Given the description of an element on the screen output the (x, y) to click on. 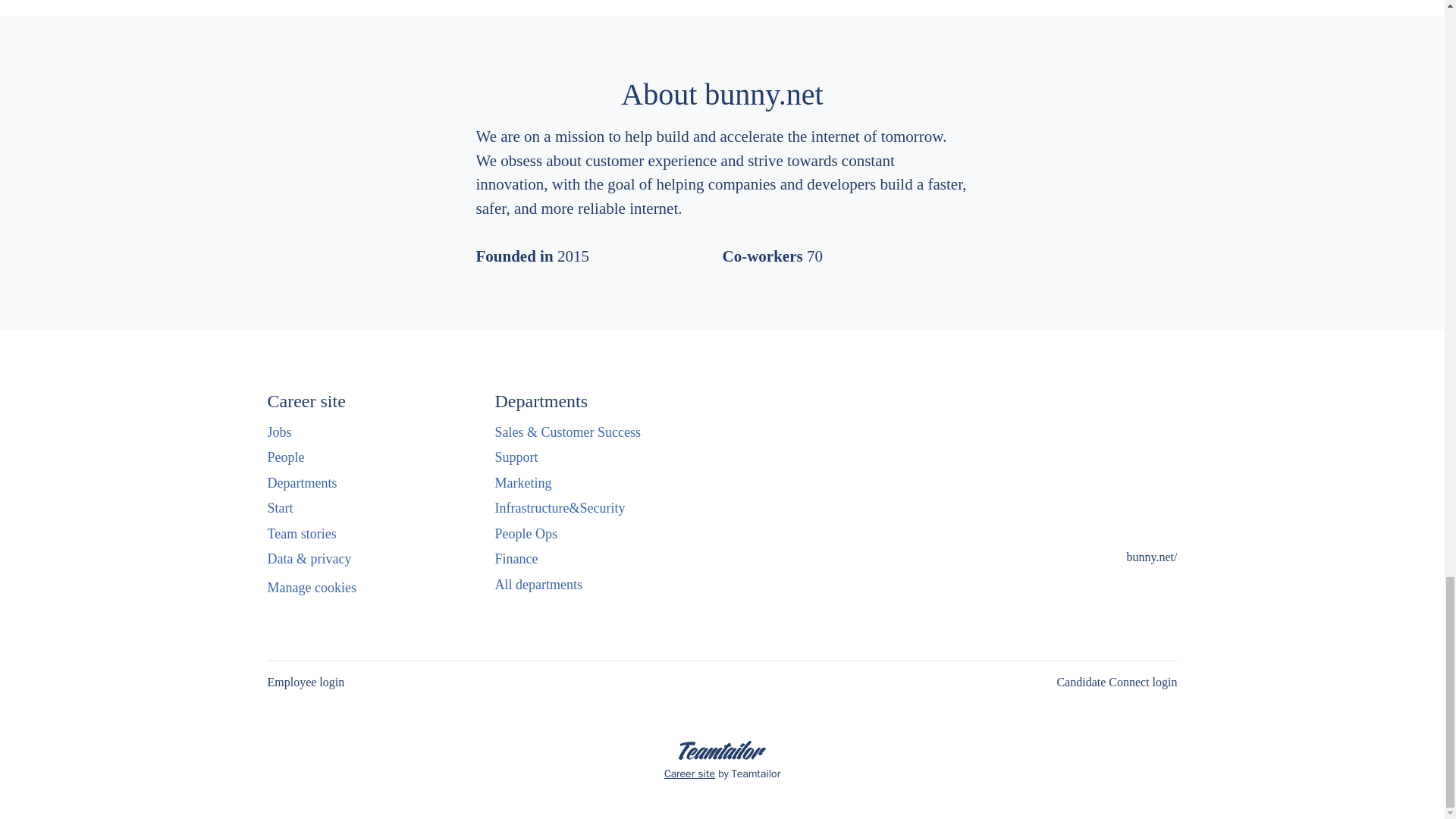
Finance (516, 558)
Support (516, 456)
Start (279, 507)
Team stories (301, 533)
Manage cookies (310, 588)
Marketing (523, 482)
Departments (301, 482)
Jobs (278, 432)
People Ops (526, 533)
All departments (537, 584)
People (285, 456)
